Given the description of an element on the screen output the (x, y) to click on. 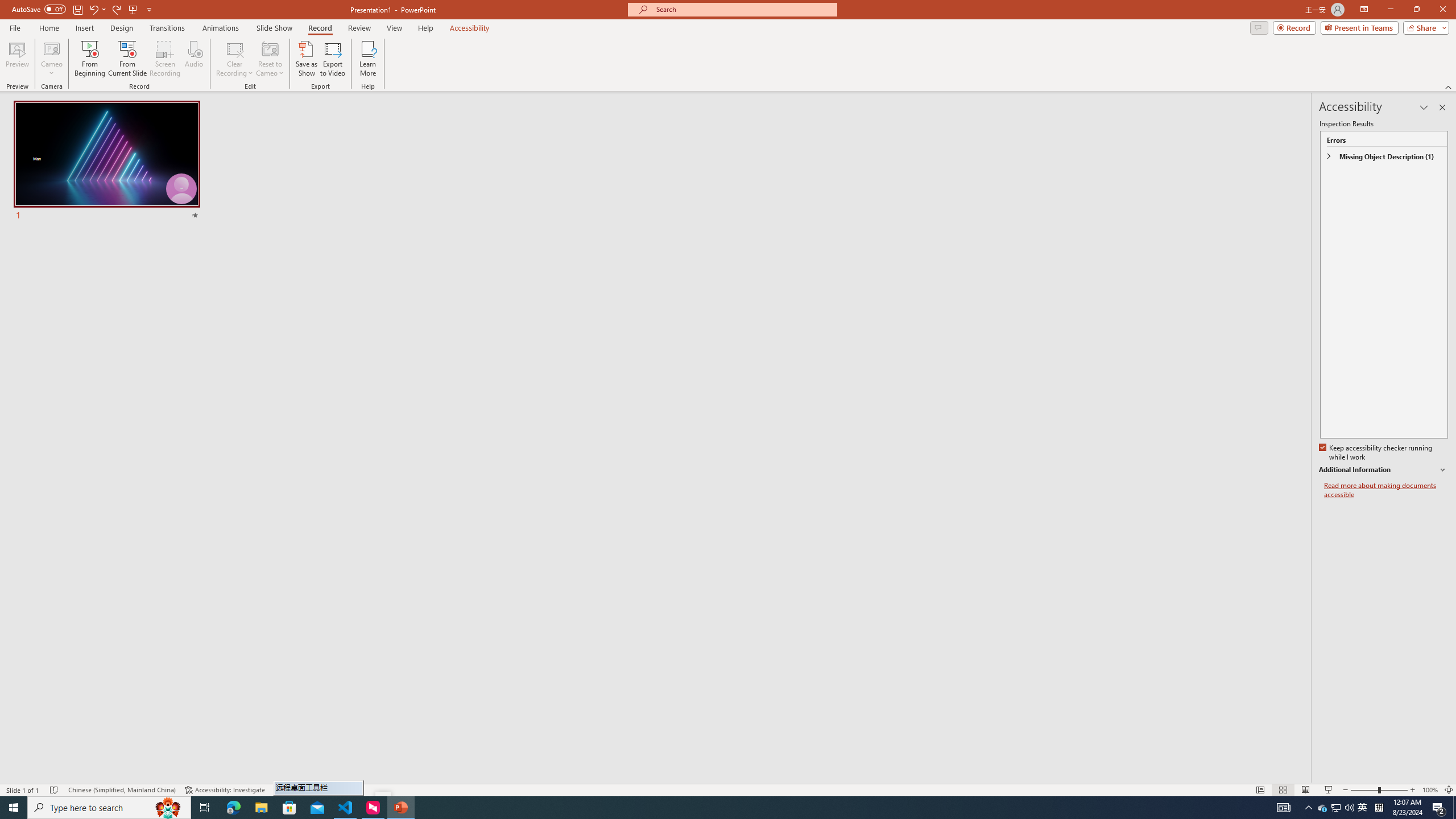
Screen Recording (165, 58)
From Current Slide... (127, 58)
Learn More (368, 58)
Close pane (1441, 107)
Reset to Cameo (269, 58)
Class: MsoCommandBar (728, 789)
